Given the description of an element on the screen output the (x, y) to click on. 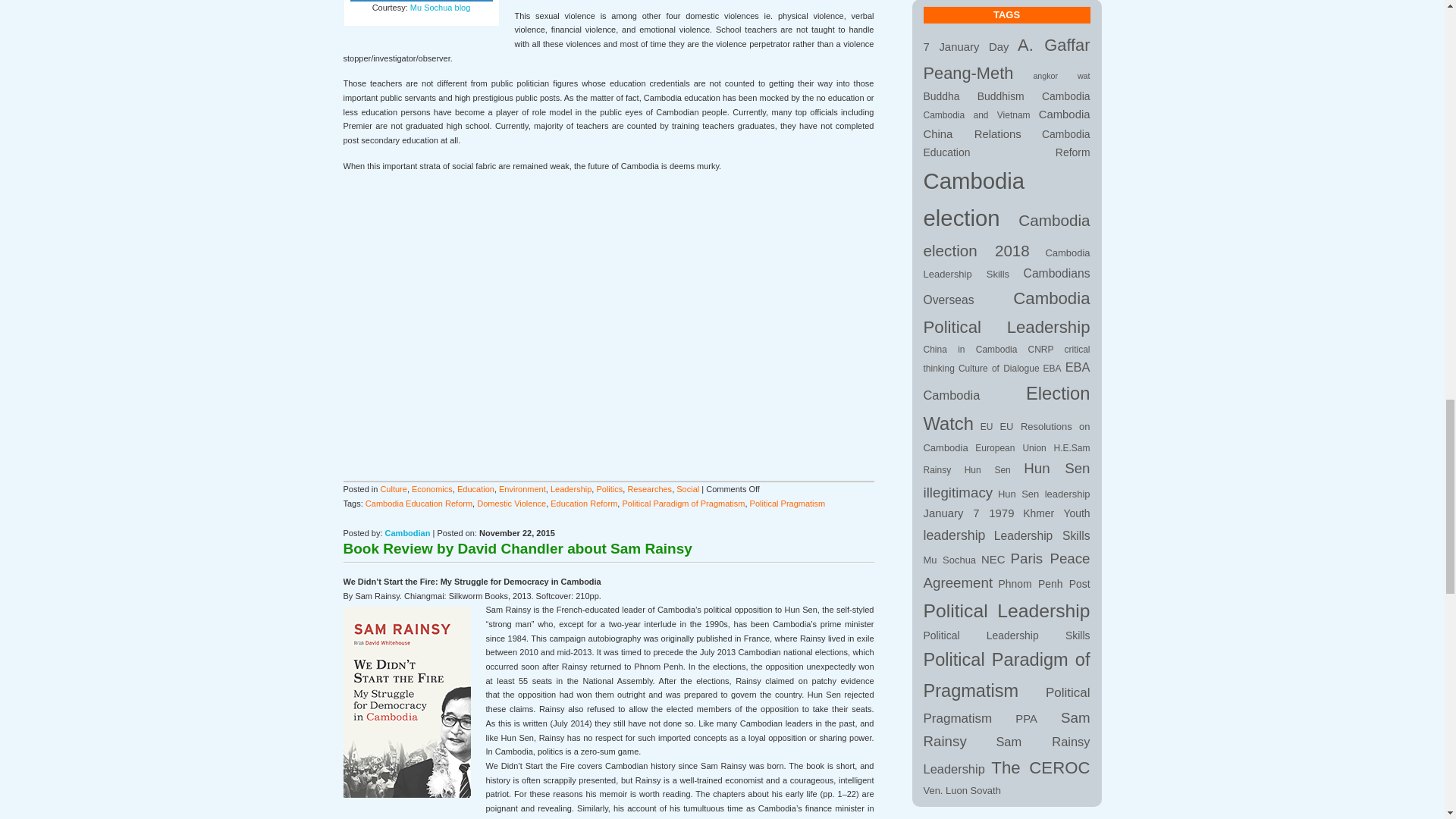
Posts by Cambodian (407, 532)
